Given the description of an element on the screen output the (x, y) to click on. 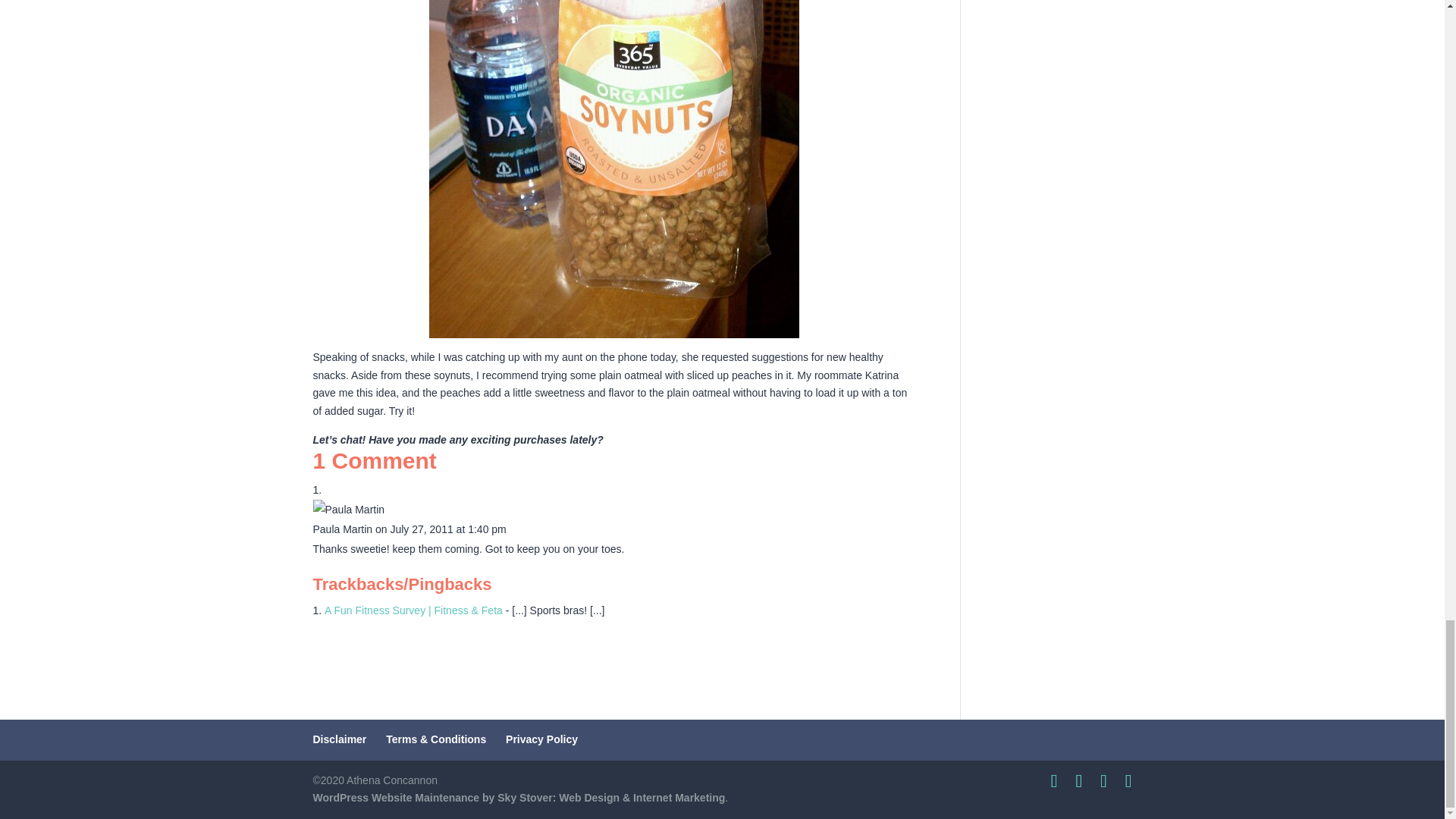
Organic Soynuts (614, 169)
WordPress Website Maintenance (519, 797)
